Given the description of an element on the screen output the (x, y) to click on. 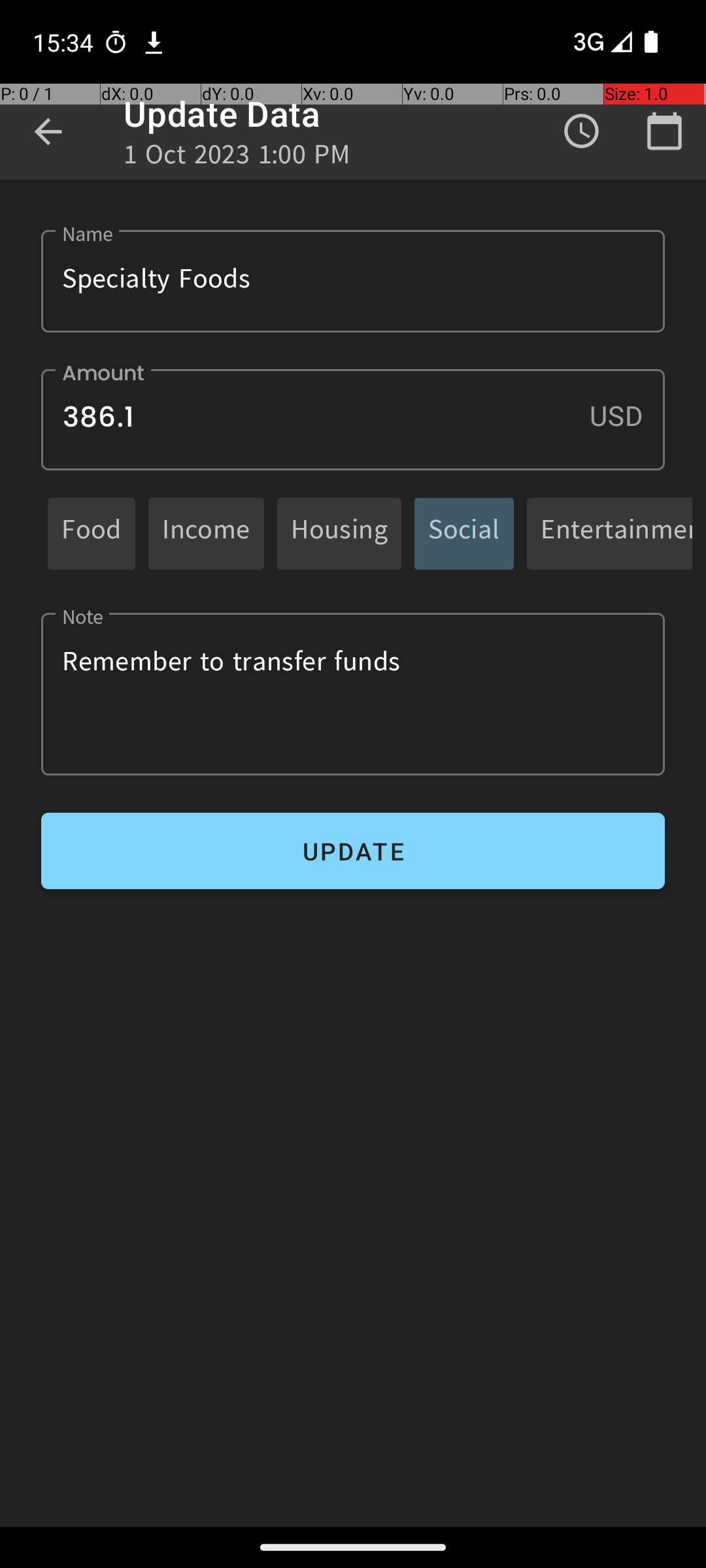
1 Oct 2023 1:00 PM Element type: android.widget.TextView (237, 157)
386.1 Element type: android.widget.EditText (352, 419)
